Given the description of an element on the screen output the (x, y) to click on. 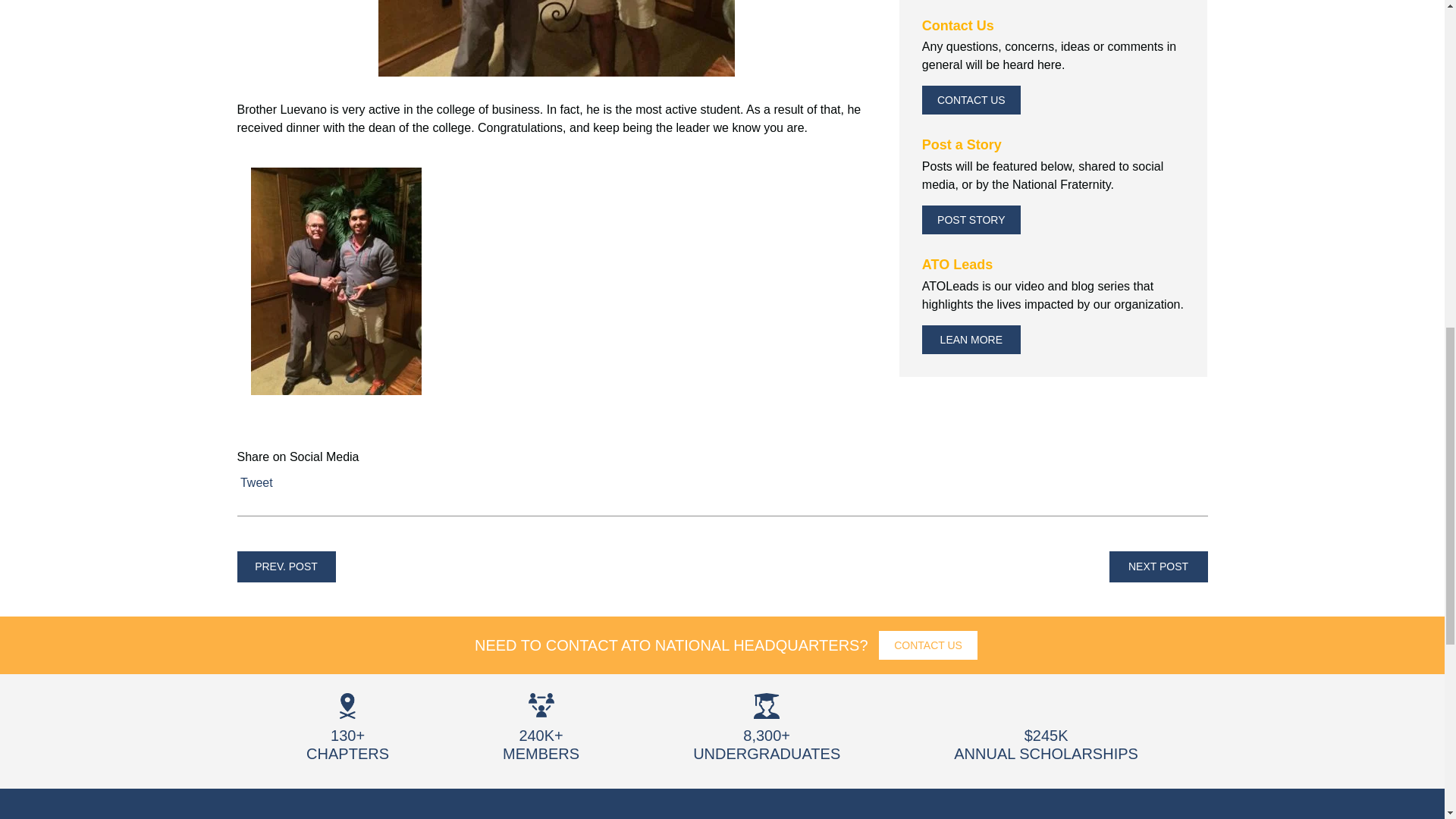
POST STORY (970, 219)
LEAN MORE (970, 339)
Lean More (970, 339)
CONTACT US (970, 99)
CONTACT US (927, 645)
NEXT POST (1157, 566)
PREV. POST (284, 566)
Contact Us (970, 99)
Post Story (970, 219)
Tweet (256, 481)
